Given the description of an element on the screen output the (x, y) to click on. 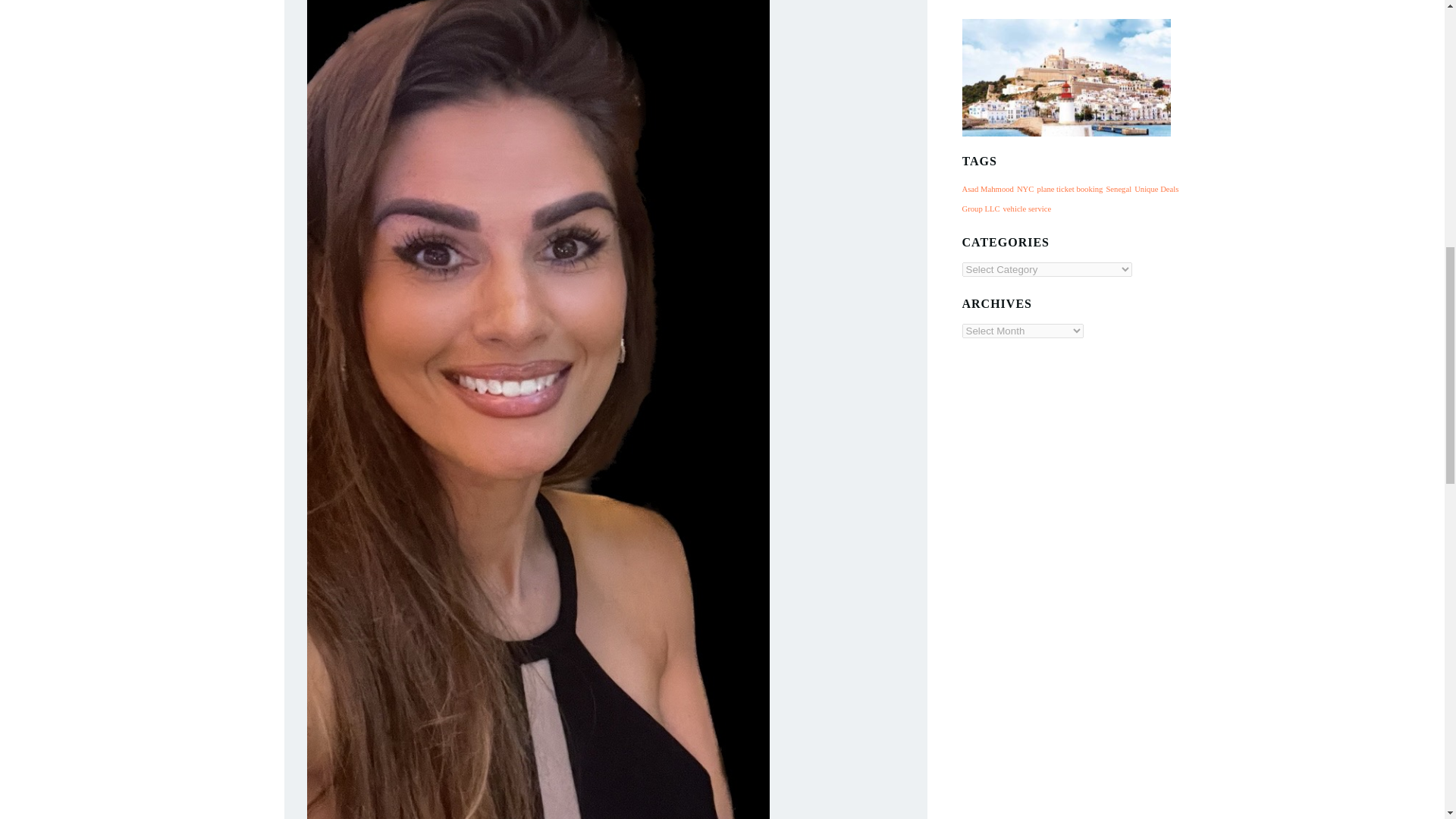
Unique Deals Group LLC (1068, 198)
Senegal (1118, 189)
plane ticket booking (1069, 189)
vehicle service (1027, 208)
NYC (1024, 189)
Asad Mahmood (986, 189)
